Given the description of an element on the screen output the (x, y) to click on. 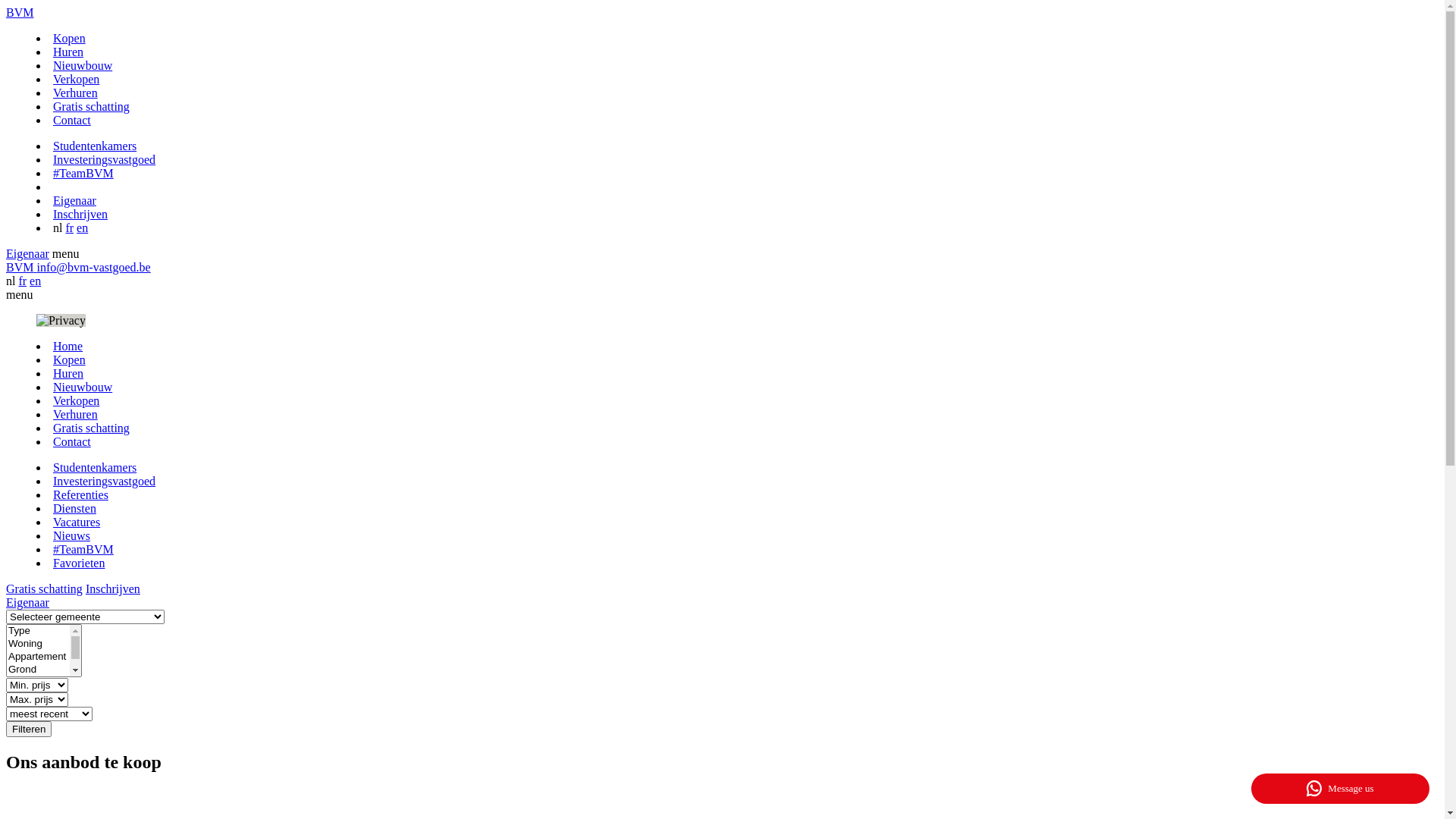
Huren Element type: text (68, 373)
Contact Element type: text (72, 441)
Huren Element type: text (68, 51)
fr Element type: text (22, 280)
Vacatures Element type: text (76, 521)
Eigenaar Element type: text (74, 200)
Referenties Element type: text (80, 494)
Studentenkamers Element type: text (94, 145)
en Element type: text (81, 227)
Nieuws Element type: text (71, 535)
Diensten Element type: text (74, 508)
#TeamBVM Element type: text (83, 172)
Kopen Element type: text (69, 37)
Gratis schatting Element type: text (91, 427)
Gratis schatting Element type: text (44, 588)
Inschrijven Element type: text (80, 213)
BVM Element type: text (21, 266)
Investeringsvastgoed Element type: text (104, 480)
Investeringsvastgoed Element type: text (104, 159)
Eigenaar Element type: text (27, 253)
Kopen Element type: text (69, 359)
Eigenaar Element type: text (27, 602)
Favorieten Element type: text (78, 562)
Inschrijven Element type: text (112, 588)
Gratis schatting Element type: text (91, 106)
Home Element type: text (67, 345)
info@bvm-vastgoed.be Element type: text (93, 266)
Verkopen Element type: text (76, 400)
Verkopen Element type: text (76, 78)
Studentenkamers Element type: text (94, 467)
fr Element type: text (69, 227)
Contact Element type: text (72, 119)
Verhuren Element type: text (75, 92)
Verhuren Element type: text (75, 413)
#TeamBVM Element type: text (83, 548)
Nieuwbouw Element type: text (82, 386)
Nieuwbouw Element type: text (82, 65)
BVM Element type: text (19, 12)
en Element type: text (34, 280)
Filteren Element type: text (28, 729)
